Given the description of an element on the screen output the (x, y) to click on. 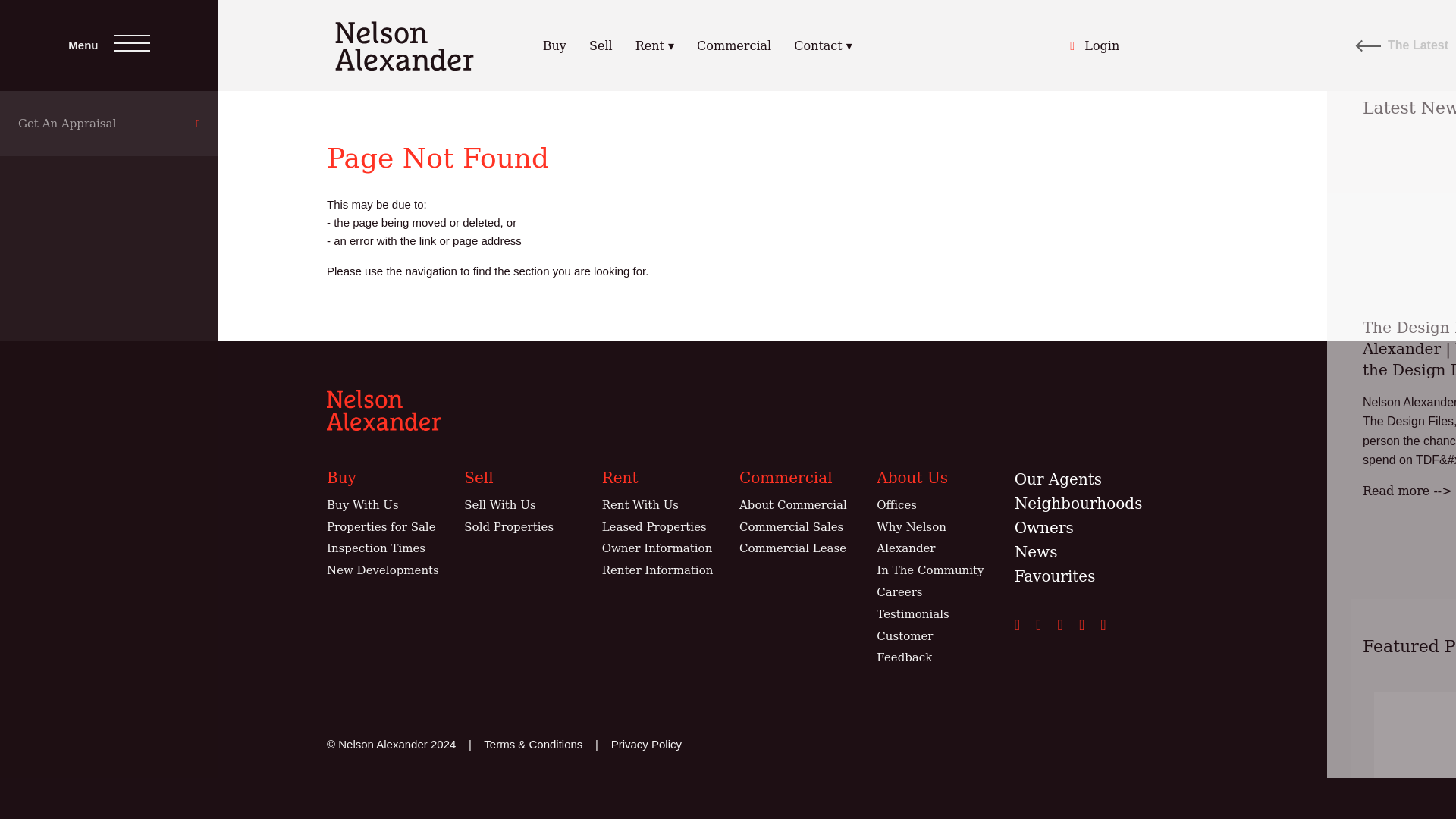
Login (1094, 45)
